Given the description of an element on the screen output the (x, y) to click on. 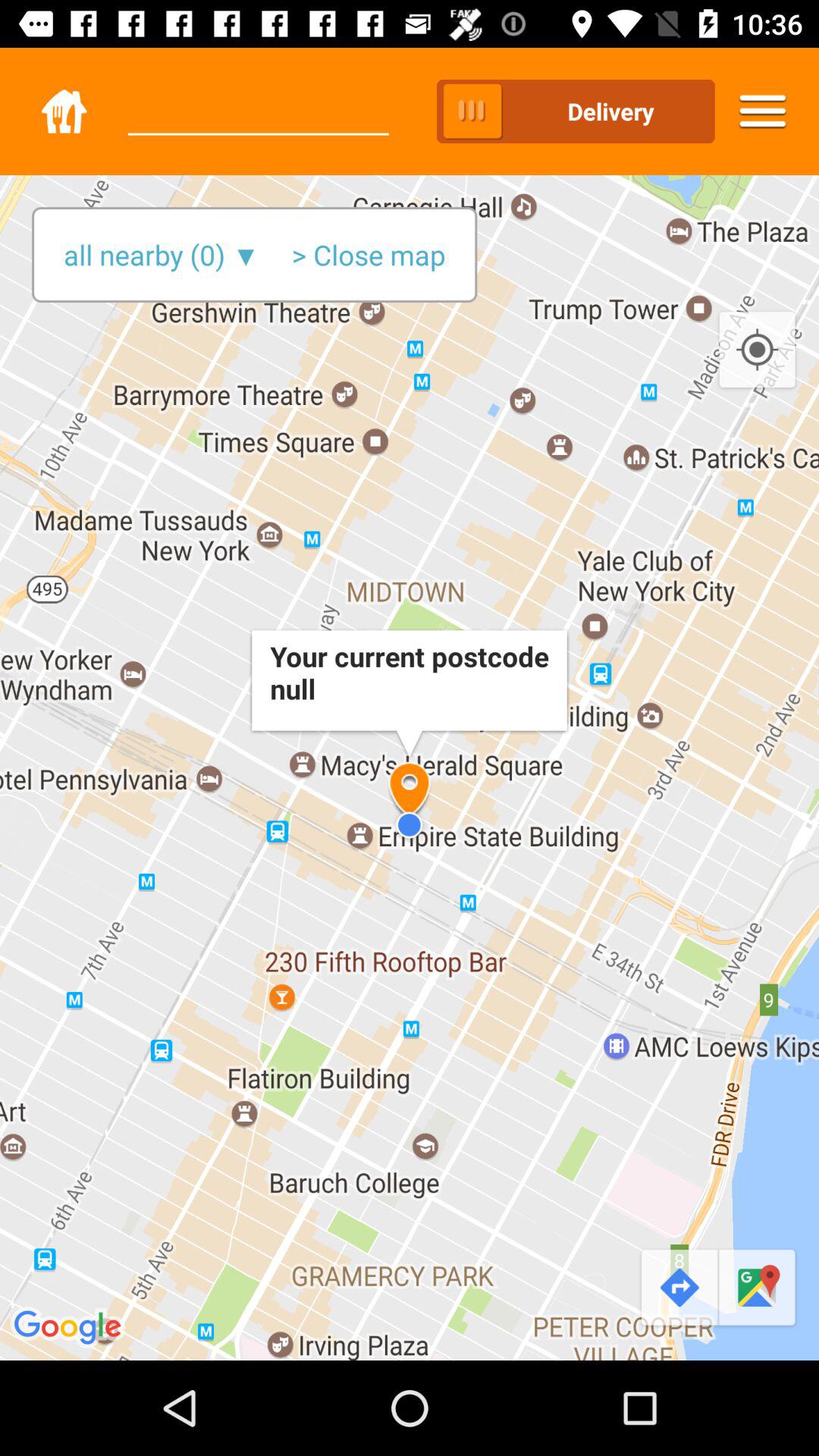
turn off item next to the delivery item (762, 111)
